Given the description of an element on the screen output the (x, y) to click on. 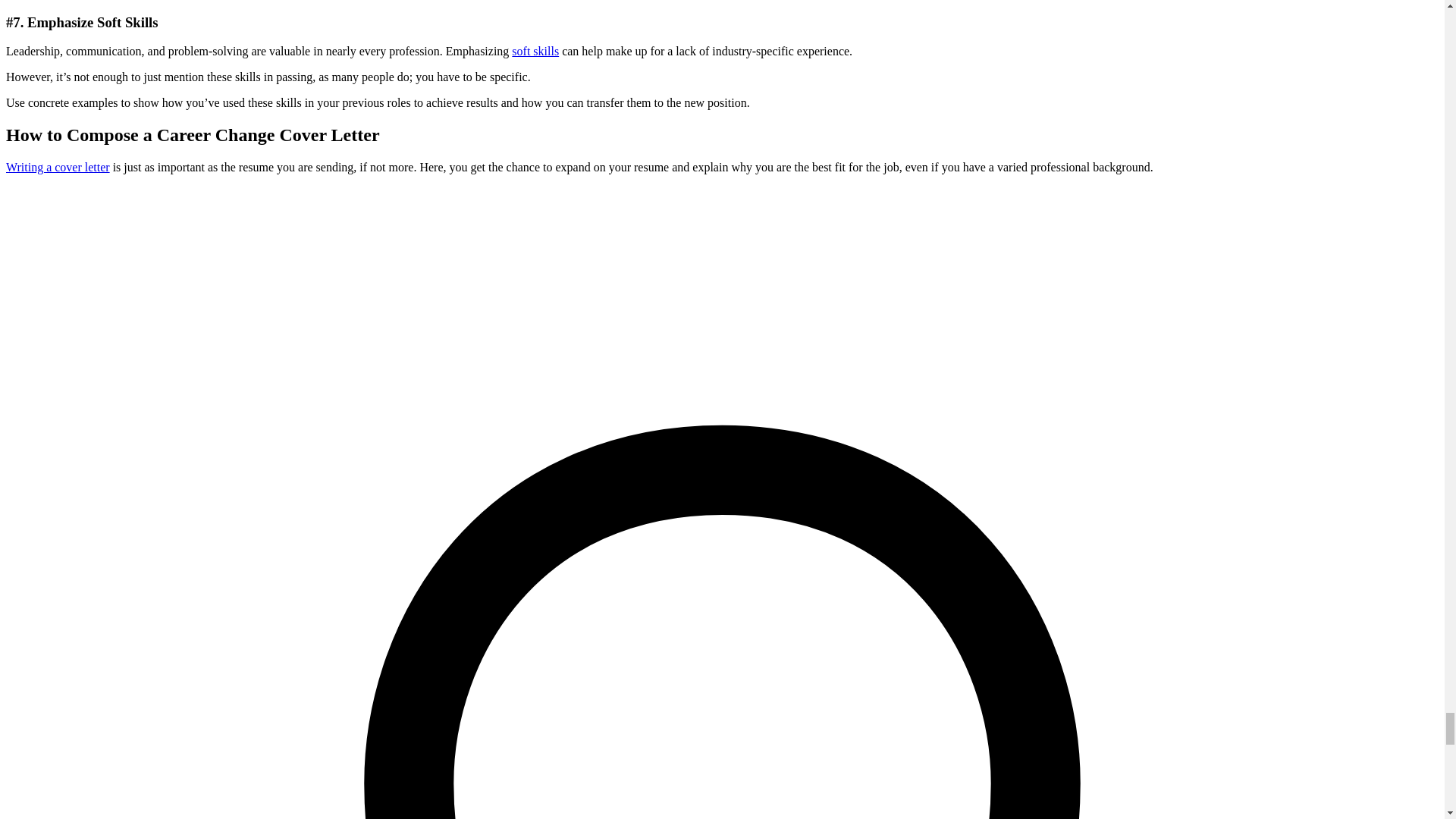
soft skills (535, 51)
Writing a cover letter (57, 166)
